Given the description of an element on the screen output the (x, y) to click on. 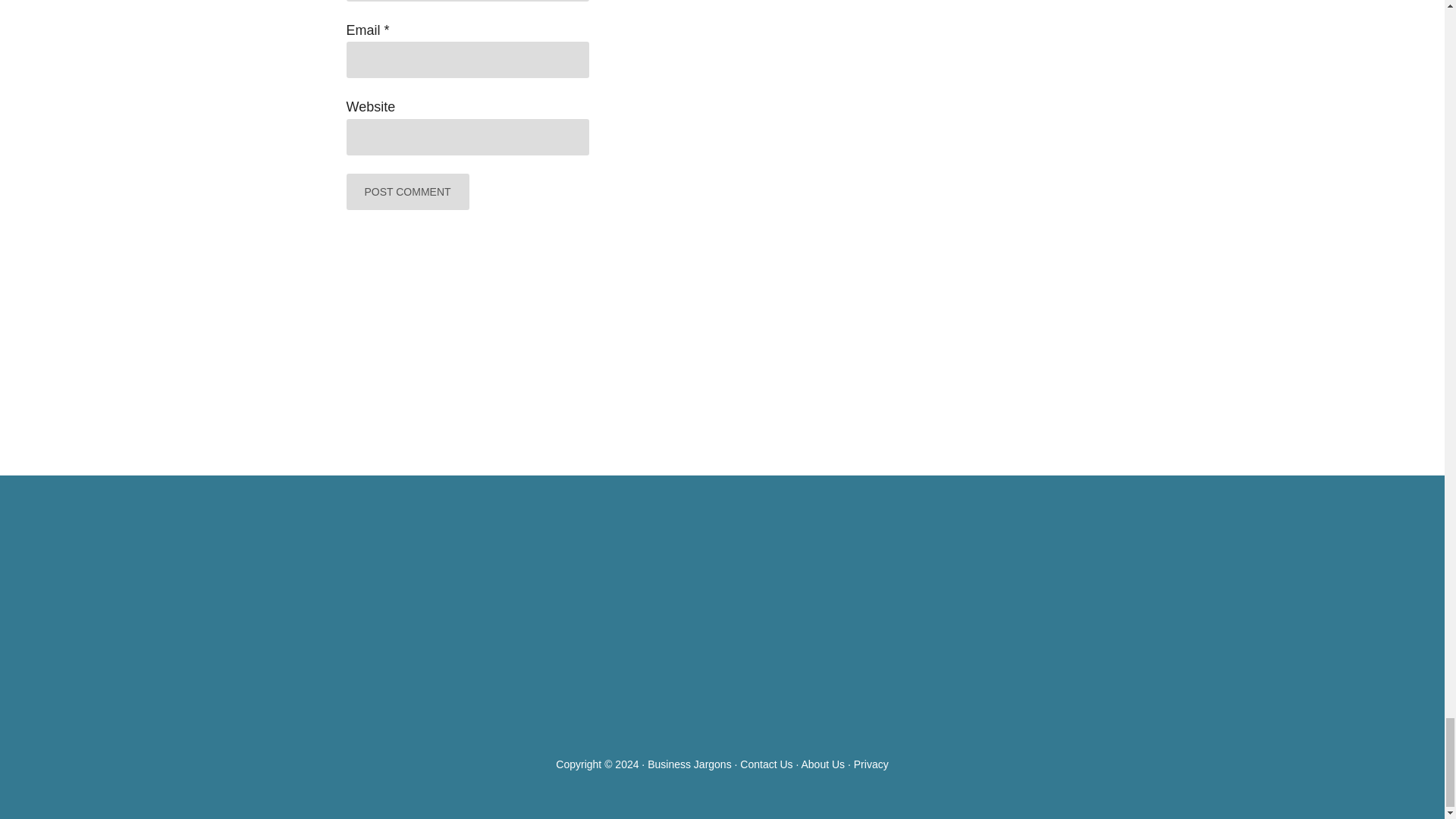
About Us (822, 764)
Post Comment (407, 191)
Contact Us (765, 764)
Post Comment (407, 191)
Privacy (870, 764)
